Given the description of an element on the screen output the (x, y) to click on. 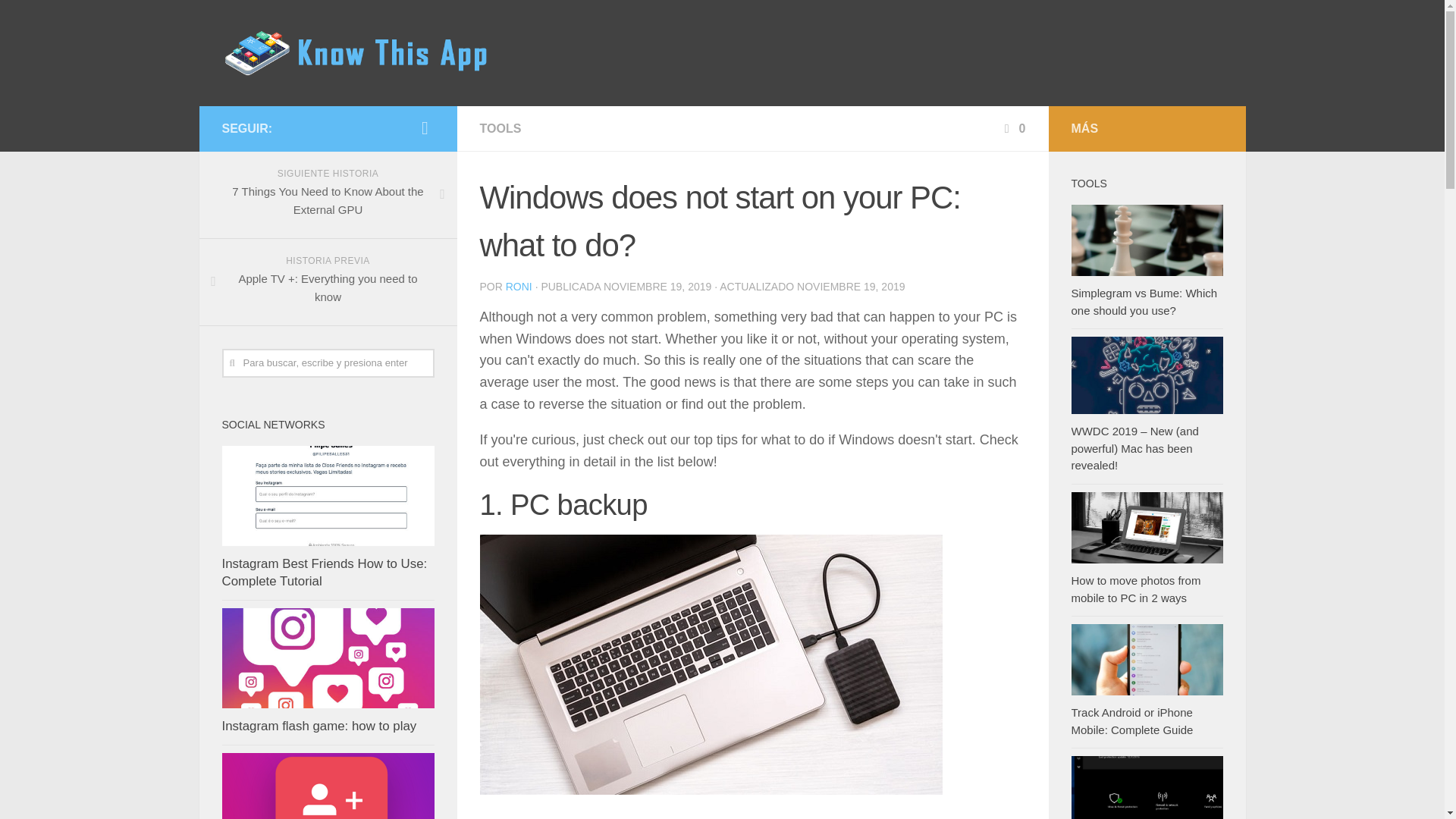
Instagram flash game: how to play (318, 726)
Instagram Best Friends How to Use: Complete Tutorial (323, 572)
TOOLS (500, 128)
Para buscar, escribe y presiona enter (327, 362)
RONI (518, 286)
Para buscar, escribe y presiona enter (327, 362)
windows does not start backup (710, 664)
Entradas de Roni (518, 286)
Follow us on Android (423, 127)
0 (1013, 128)
